Given the description of an element on the screen output the (x, y) to click on. 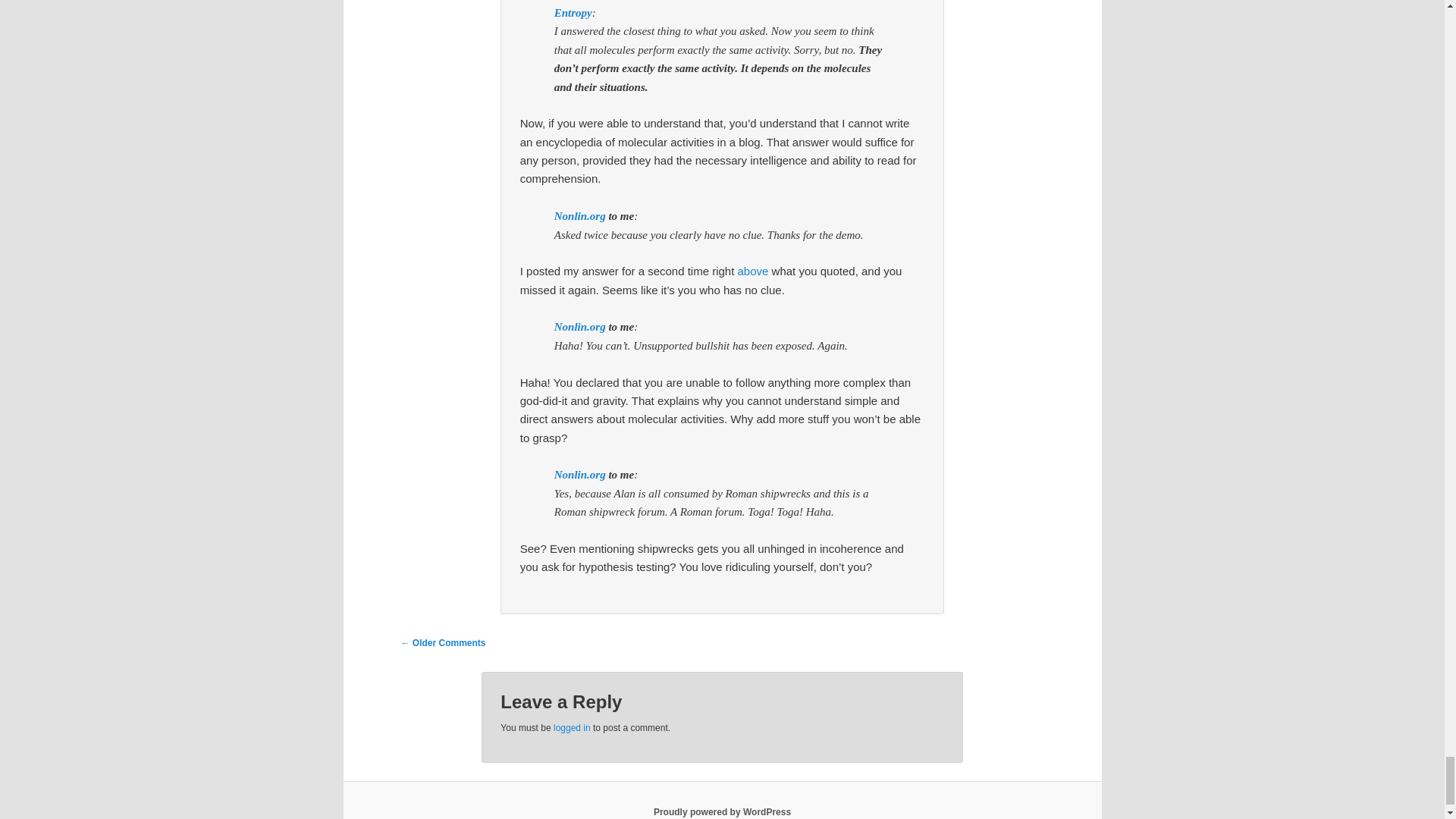
Semantic Personal Publishing Platform (721, 811)
